Given the description of an element on the screen output the (x, y) to click on. 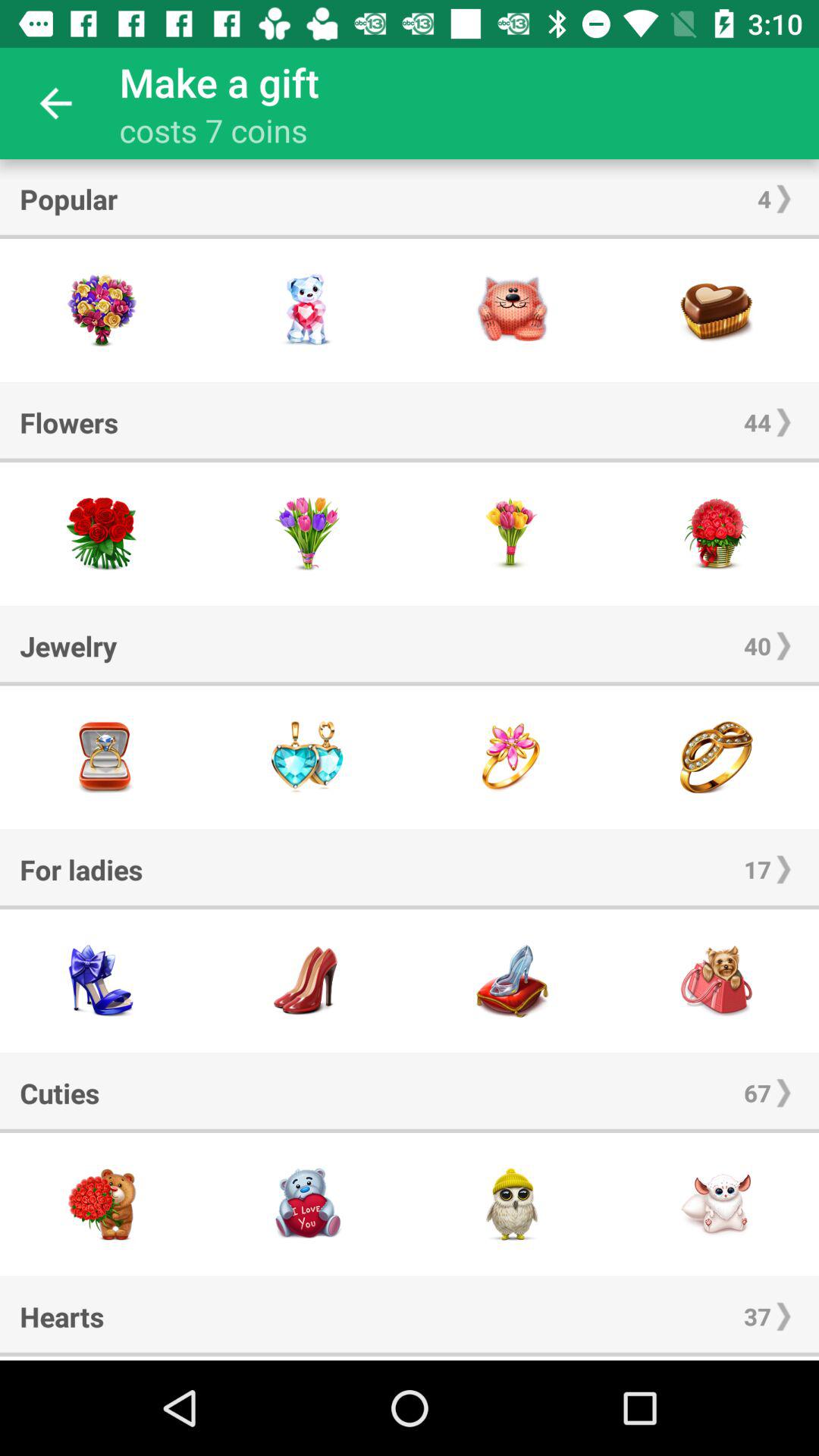
gift option (102, 980)
